Given the description of an element on the screen output the (x, y) to click on. 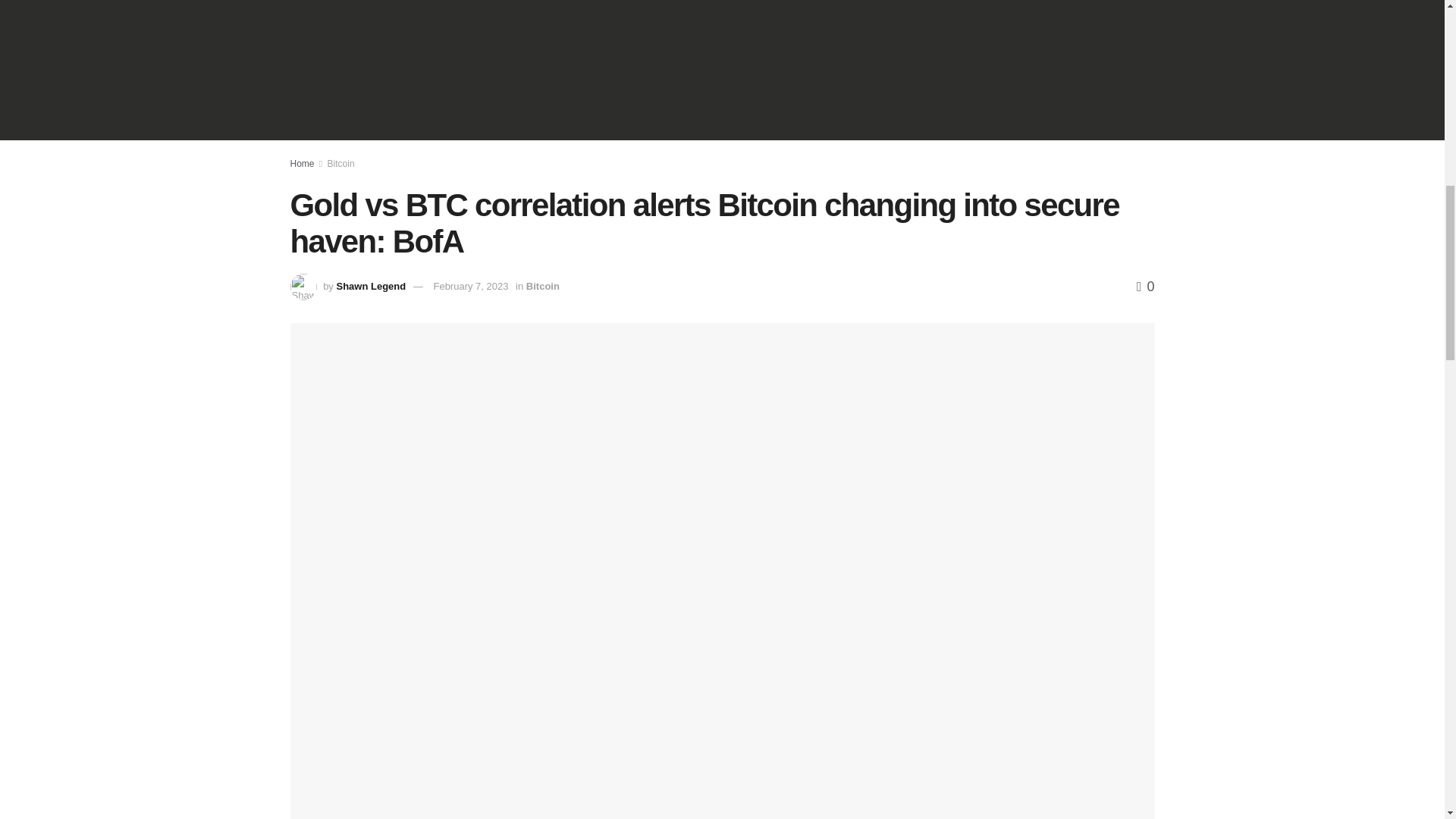
0 (1145, 286)
Bitcoin (341, 163)
Bitcoin (542, 285)
Home (301, 163)
February 7, 2023 (470, 285)
Shawn Legend (371, 285)
